Given the description of an element on the screen output the (x, y) to click on. 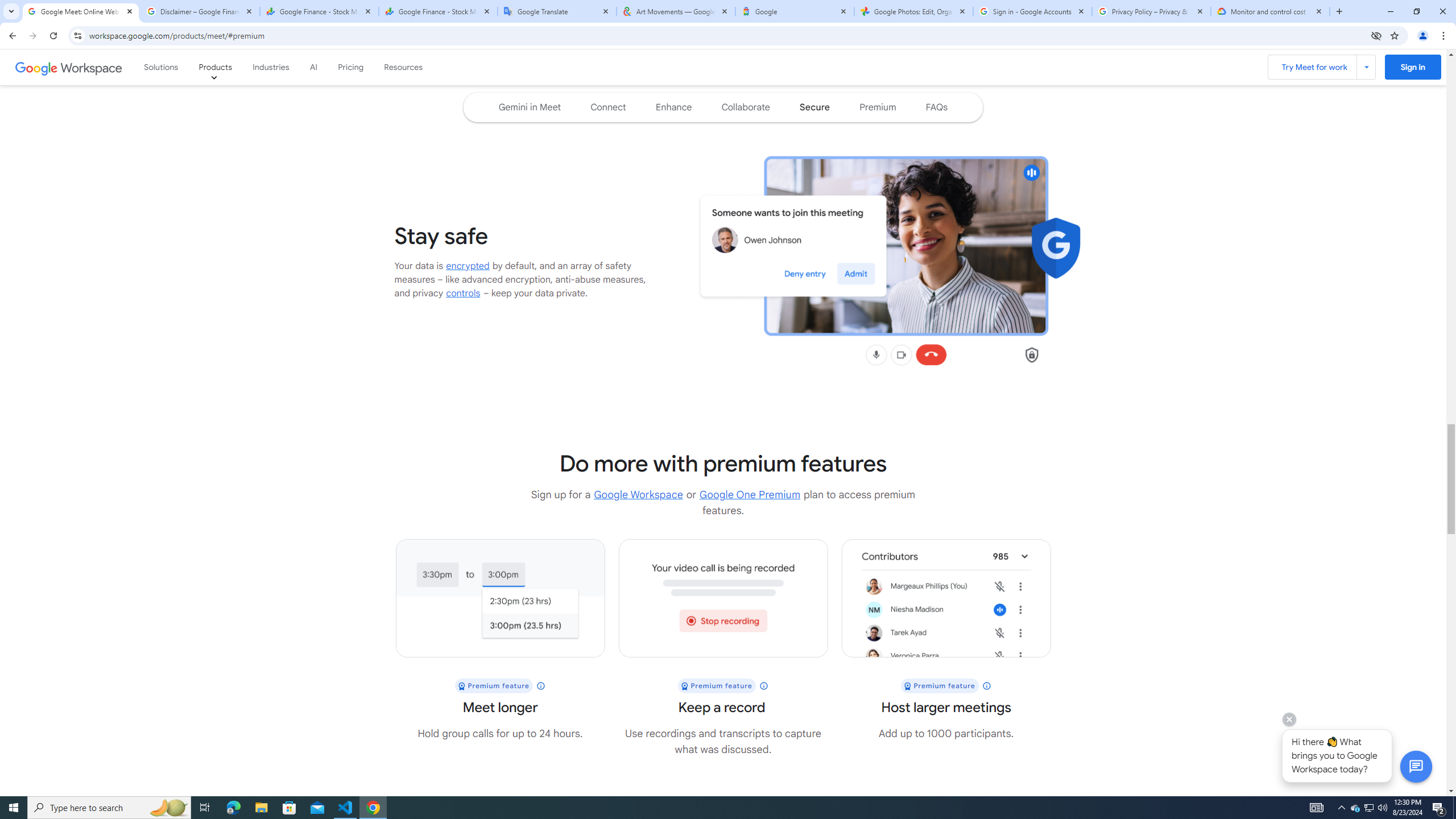
Premium feature (946, 685)
Resources (403, 67)
UI shows extending a meeting to 23.5 hours (499, 597)
Products (215, 67)
Jump to the collaborate section of the page (746, 107)
